Given the description of an element on the screen output the (x, y) to click on. 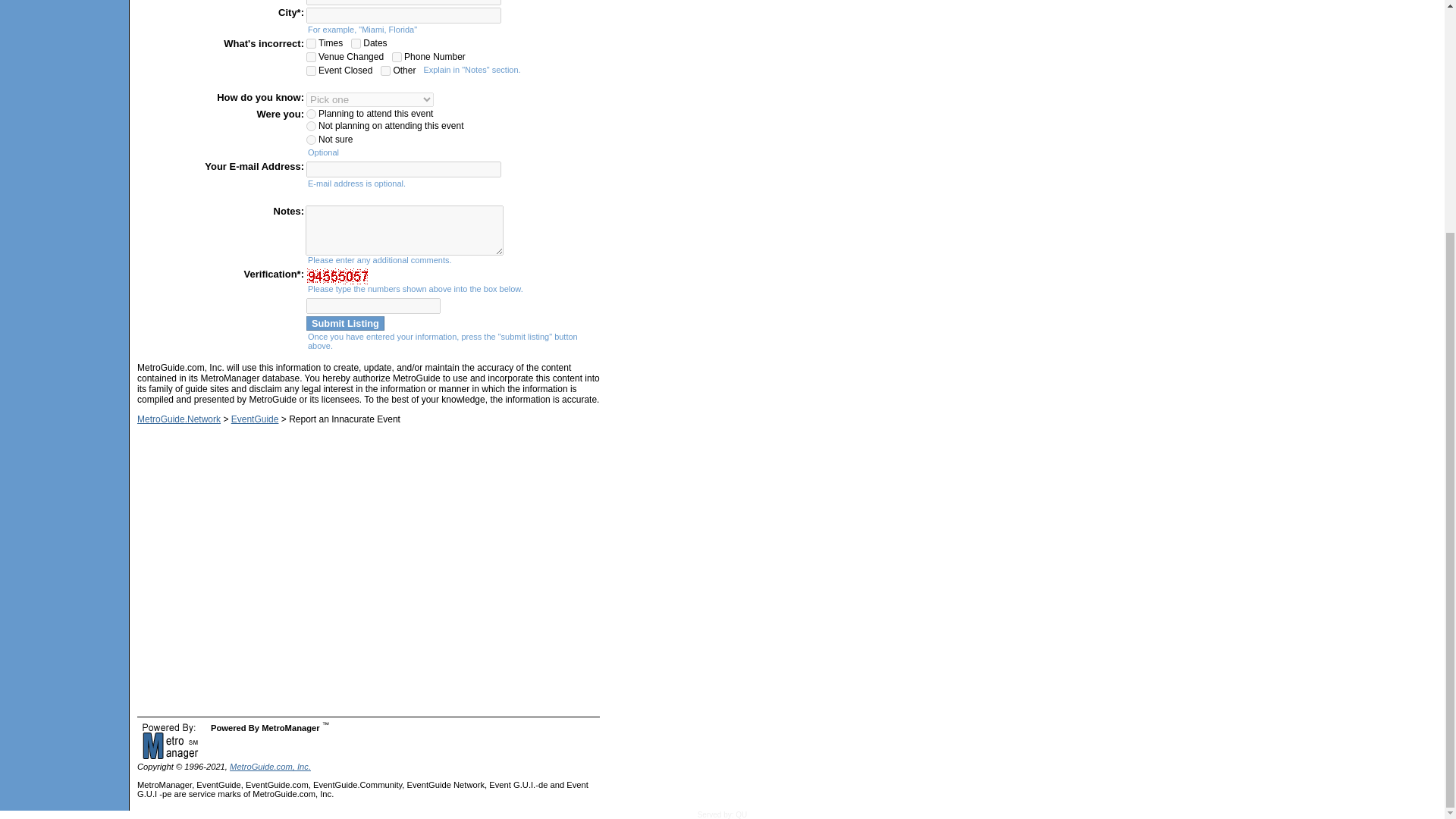
Yes (310, 43)
Yes (355, 43)
City (402, 15)
Submit Listing (344, 323)
Notes (404, 230)
Email (402, 169)
Not planning to attend (310, 126)
Submit Listing (344, 323)
EventGuide (255, 419)
MetroGuide.com, Inc. (270, 766)
MetroGuide.Network (178, 419)
Event Name (402, 2)
Yes (310, 57)
Yes (385, 71)
